Given the description of an element on the screen output the (x, y) to click on. 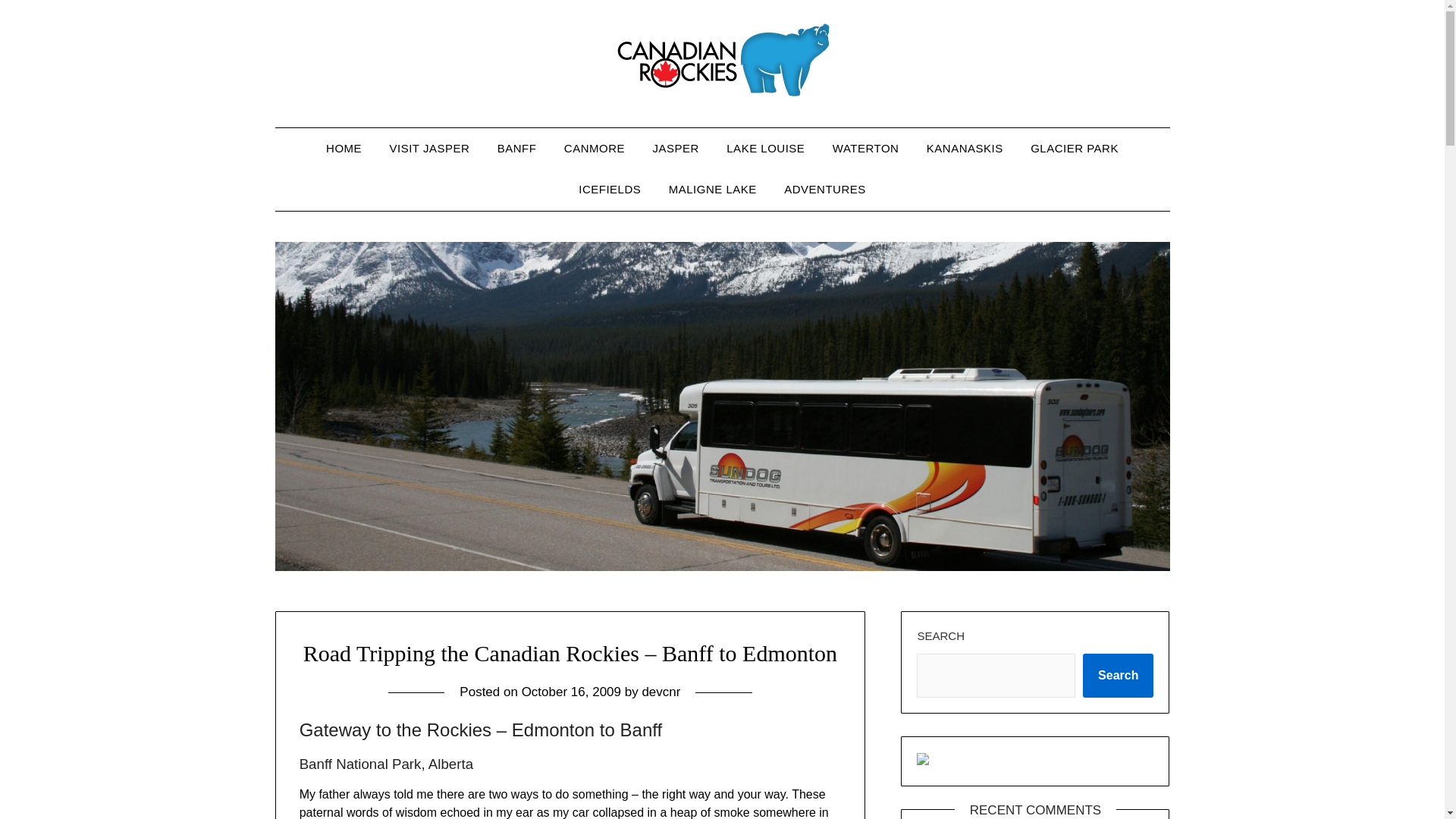
Icefields (609, 188)
VISIT JASPER (429, 147)
Kananaskis (964, 147)
LAKE LOUISE (765, 147)
JASPER (675, 147)
HOME (344, 147)
CANMORE (594, 147)
Lake Louise (765, 147)
Canmore (594, 147)
Glacier Park (1074, 147)
Home (344, 147)
Maligne Lake (712, 188)
Jasper (675, 147)
Banff (516, 147)
BANFF (516, 147)
